Given the description of an element on the screen output the (x, y) to click on. 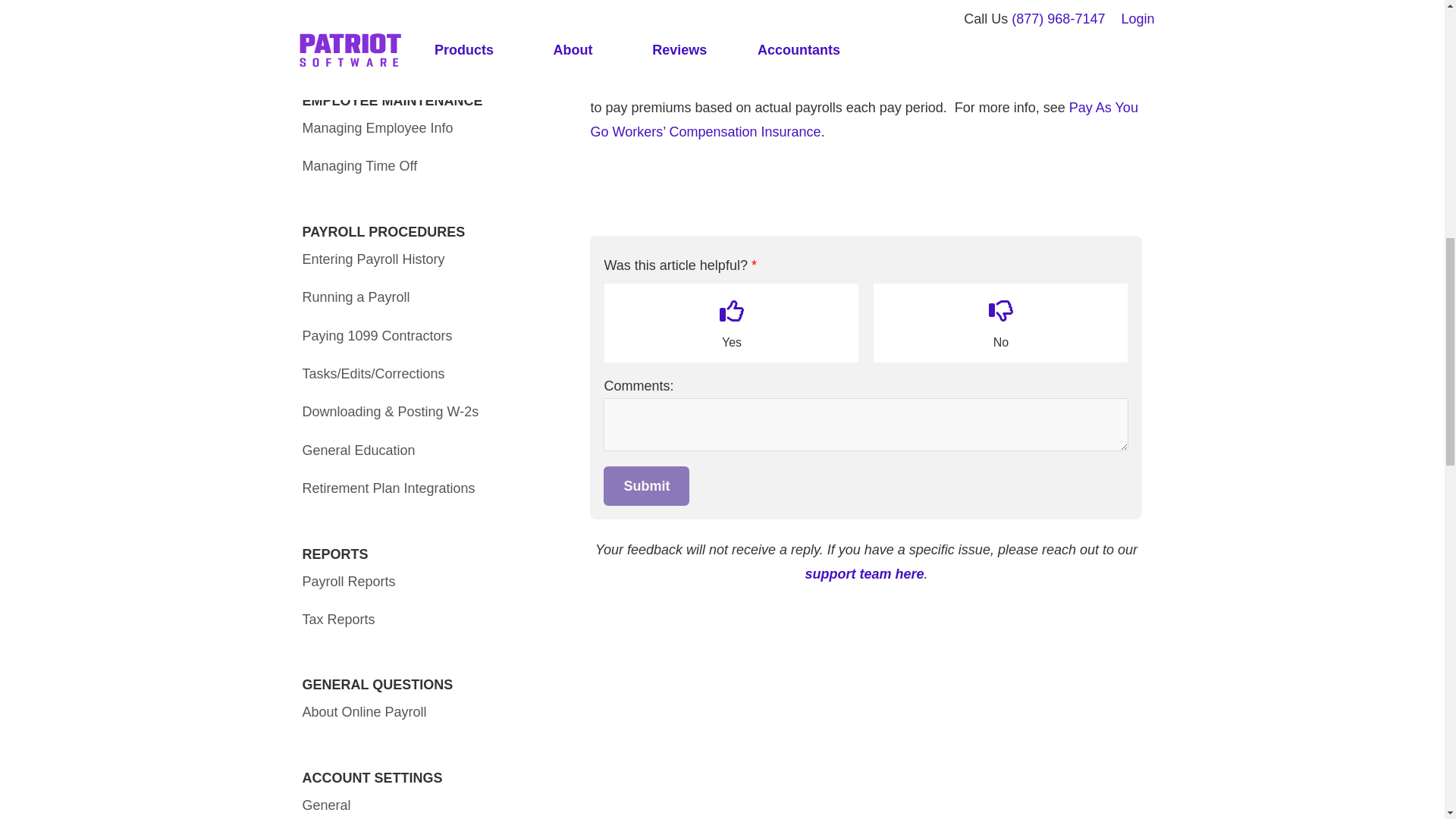
Running a Payroll (355, 296)
Retirement Plan Integrations (387, 488)
Managing Time Off (358, 165)
Contributions Settings (368, 35)
Deductions Settings (362, 2)
Managing Employee Info (376, 127)
Paying 1099 Contractors (376, 335)
Entering Payroll History (372, 258)
